Given the description of an element on the screen output the (x, y) to click on. 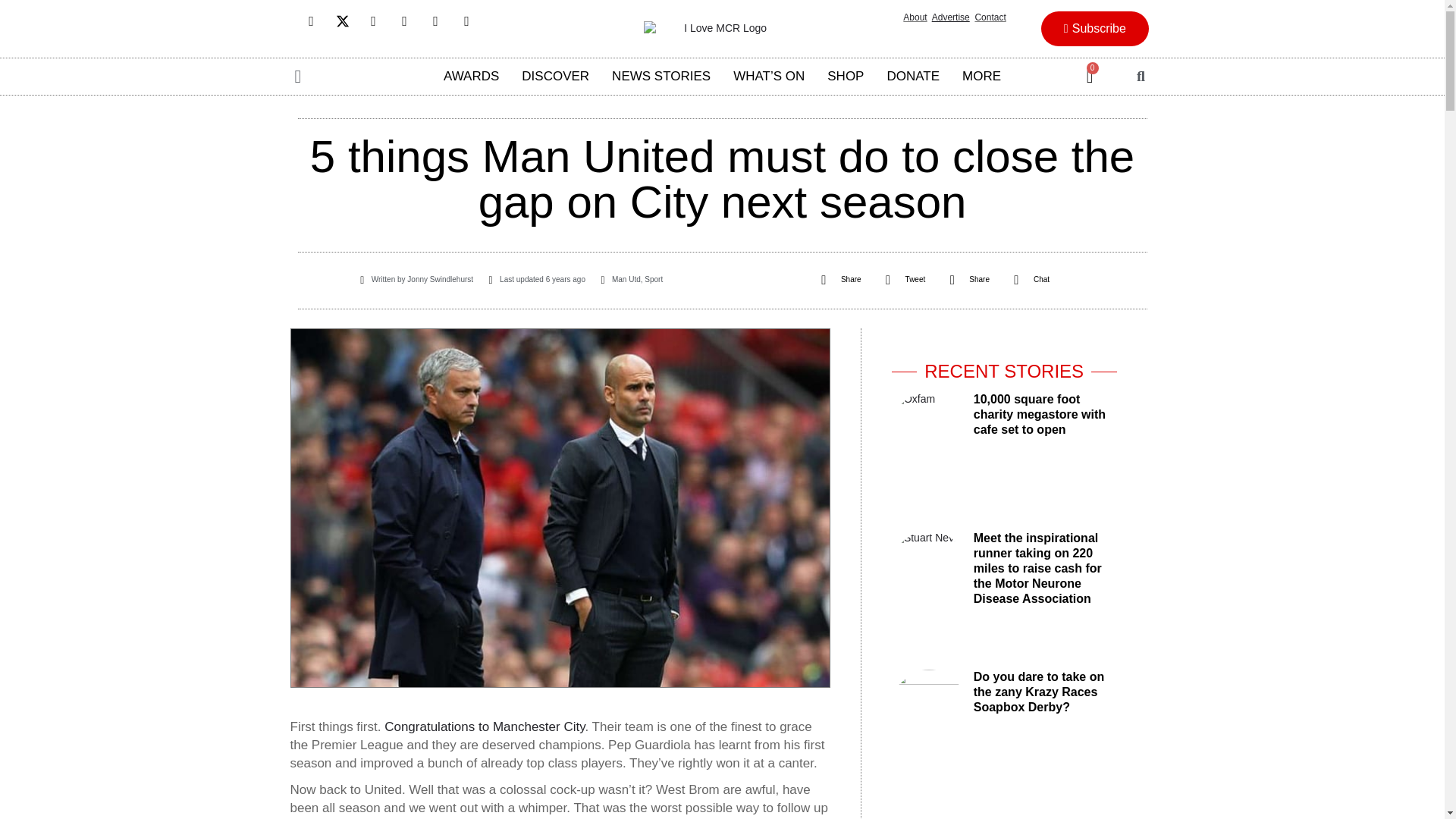
AWARDS (471, 76)
Contact (990, 17)
NEWS STORIES (660, 76)
Subscribe (1094, 28)
DISCOVER (555, 76)
About (914, 17)
Advertise (950, 17)
ilovemcr-website-logo 544 (718, 28)
